Given the description of an element on the screen output the (x, y) to click on. 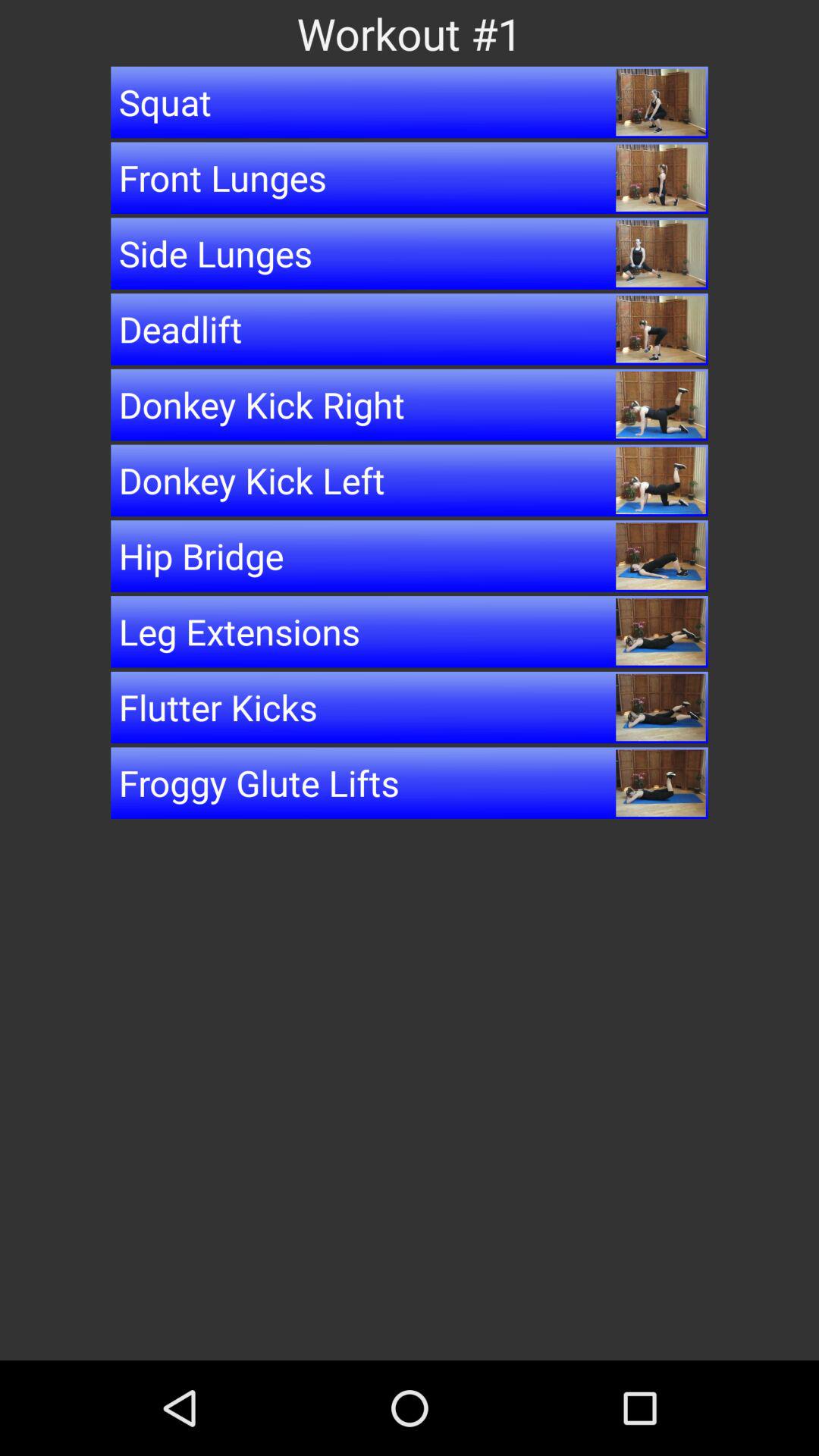
choose the item below flutter kicks button (409, 783)
